Given the description of an element on the screen output the (x, y) to click on. 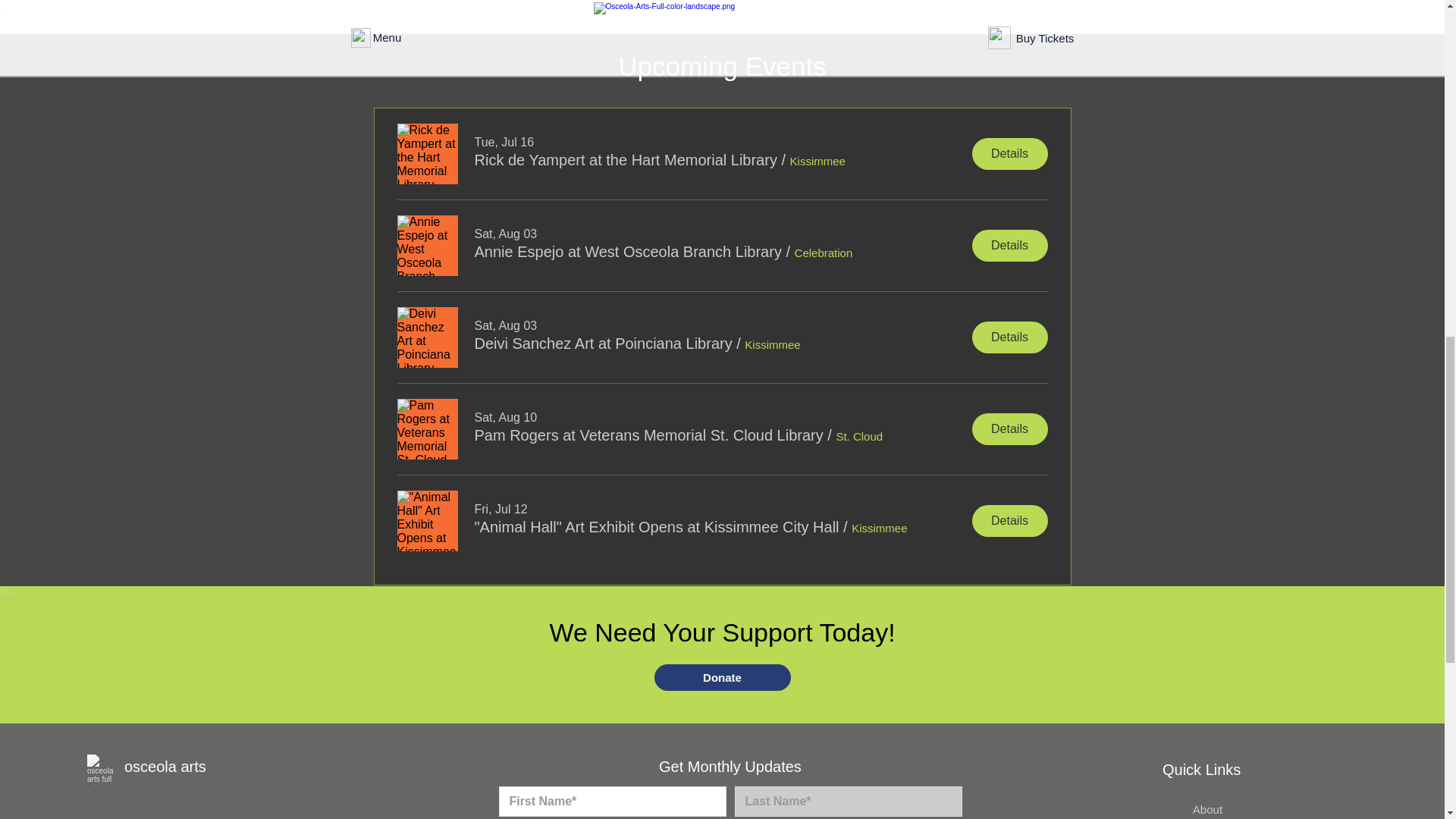
Donate (721, 677)
Details (1010, 336)
Details (1010, 521)
Details (1010, 153)
Details (1010, 429)
Details (1010, 245)
